Given the description of an element on the screen output the (x, y) to click on. 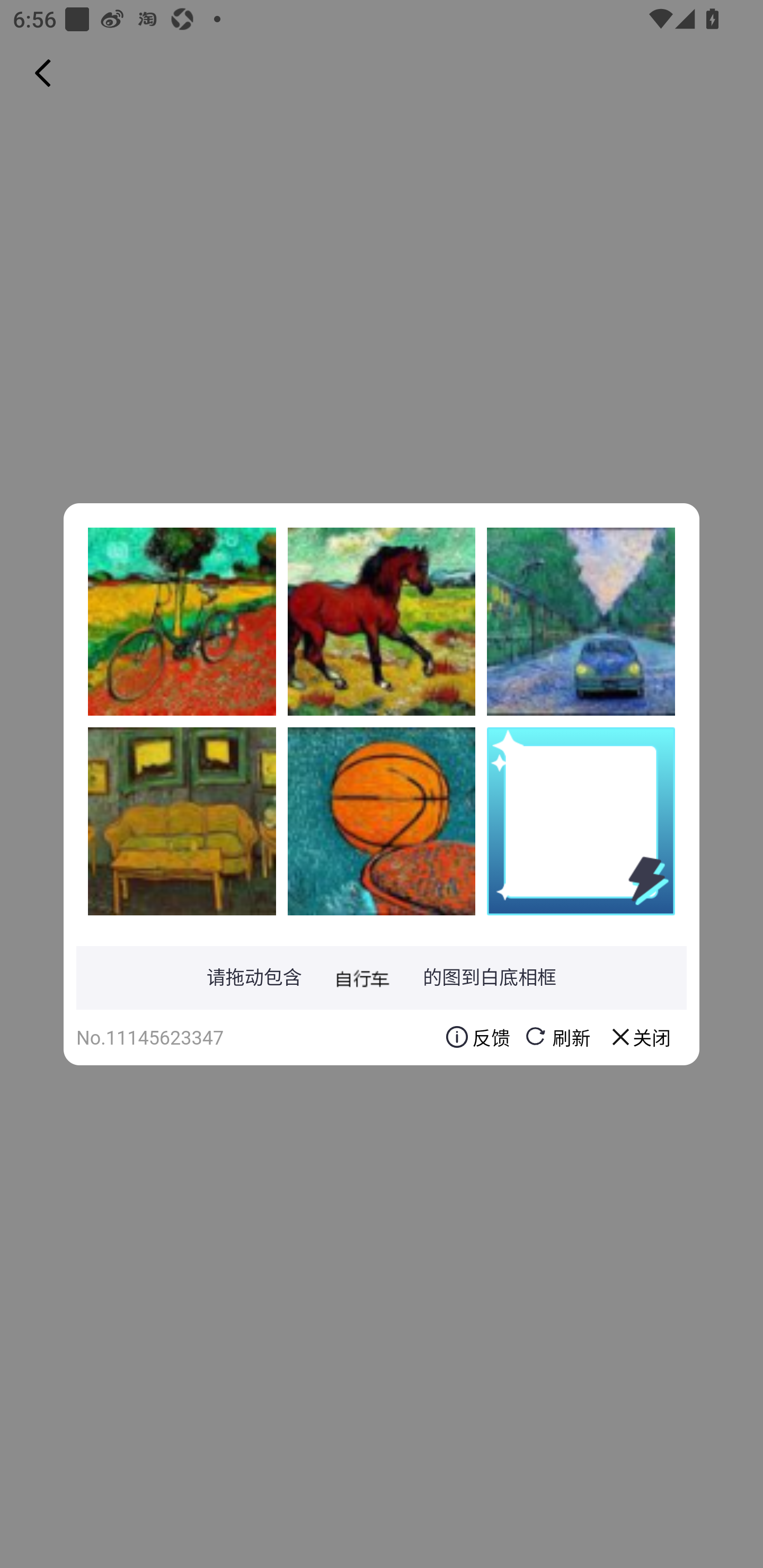
iKPlvuzMdeZgkRcH8yawP3kKoWnLmT (381, 621)
